Given the description of an element on the screen output the (x, y) to click on. 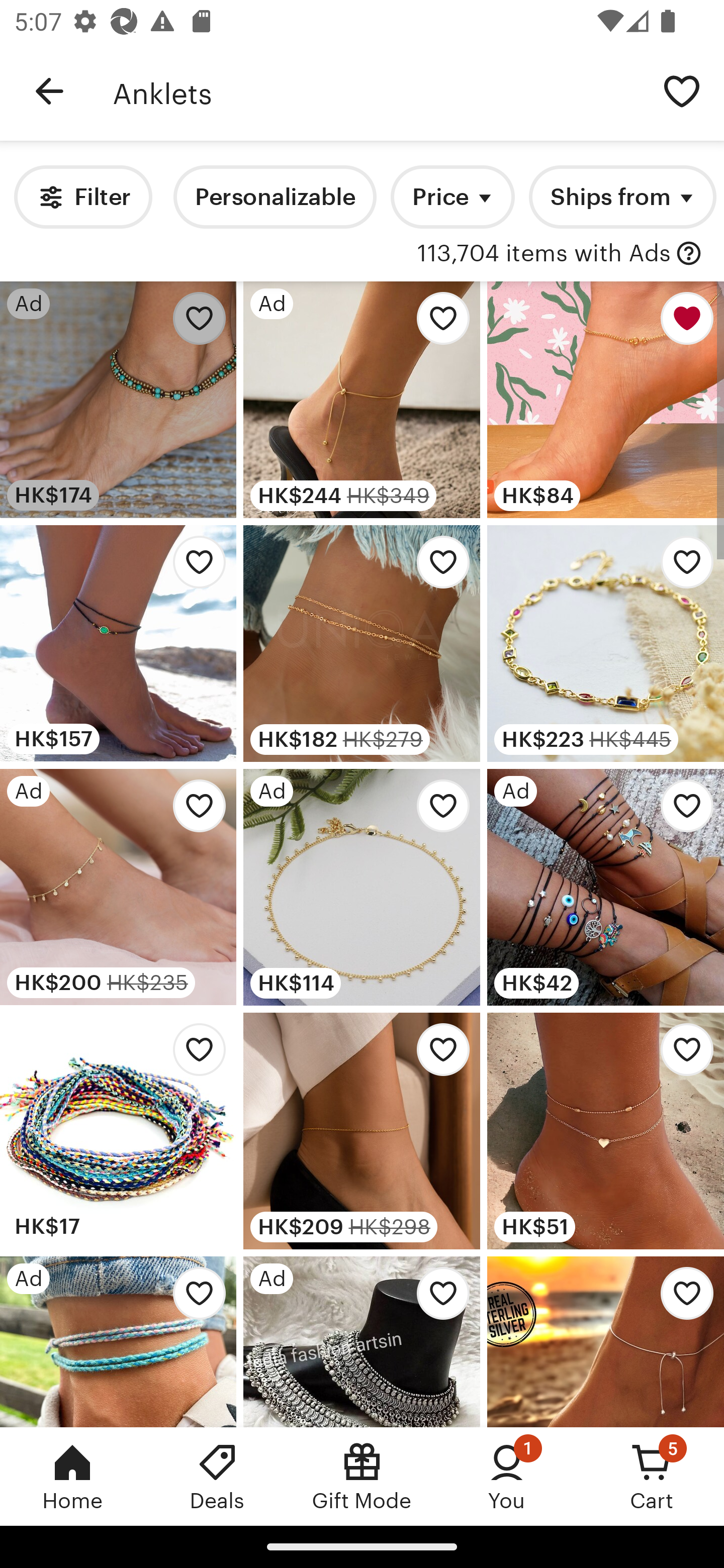
Navigate up (49, 91)
Save search (681, 90)
Anklets (375, 91)
Filter (82, 197)
Personalizable (274, 197)
Price (452, 197)
Ships from (622, 197)
113,704 items with Ads (544, 253)
with Ads (688, 253)
Deals (216, 1475)
Gift Mode (361, 1475)
You, 1 new notification You (506, 1475)
Cart, 5 new notifications Cart (651, 1475)
